Given the description of an element on the screen output the (x, y) to click on. 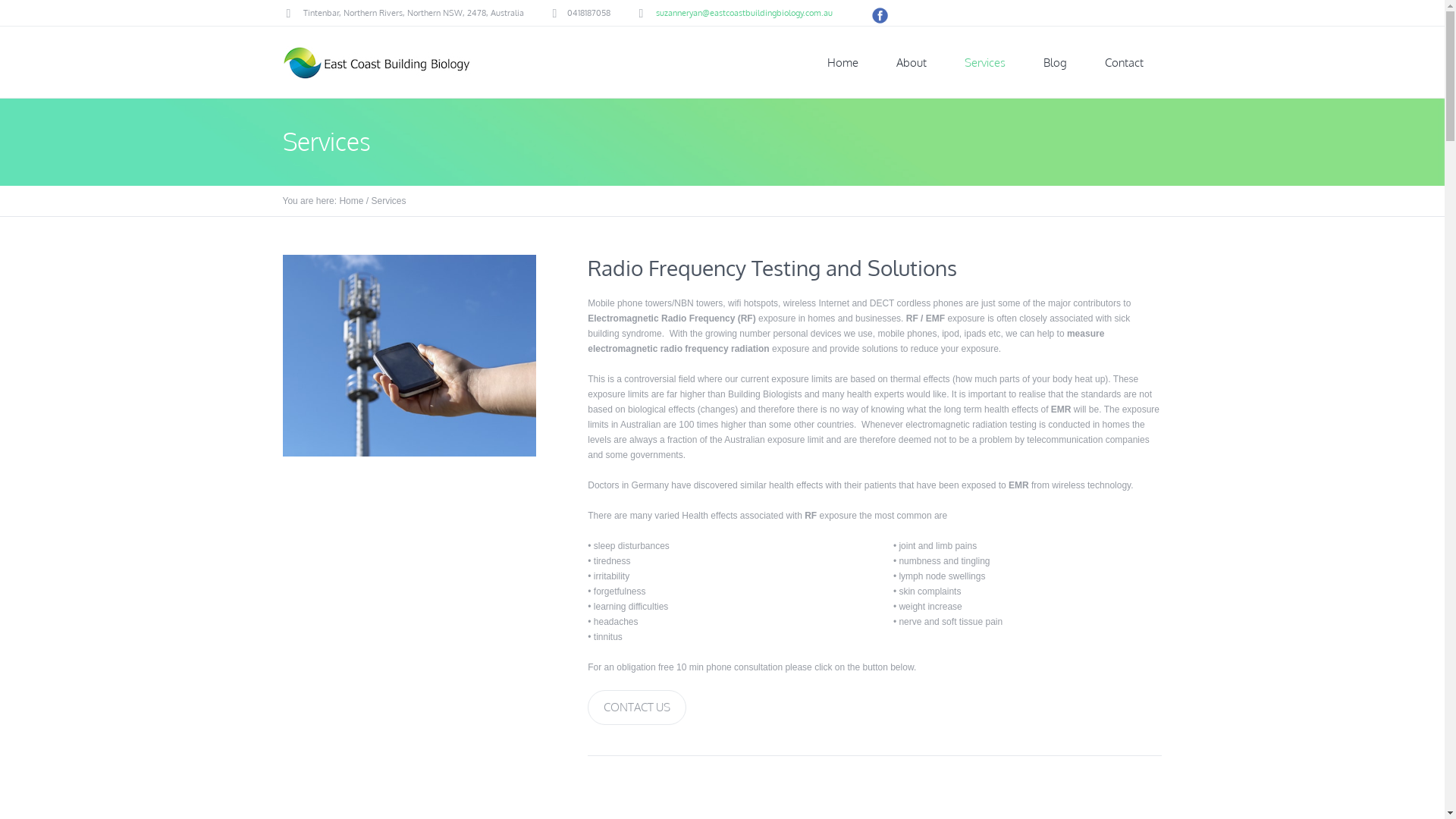
Contact Element type: text (1123, 62)
Blog Element type: text (1054, 62)
Home Element type: text (350, 200)
suzanneryan@eastcoastbuildingbiology.com.au Element type: text (743, 12)
About Element type: text (910, 62)
CONTACT US Element type: text (636, 707)
Services Element type: text (983, 62)
Home Element type: text (842, 62)
